Given the description of an element on the screen output the (x, y) to click on. 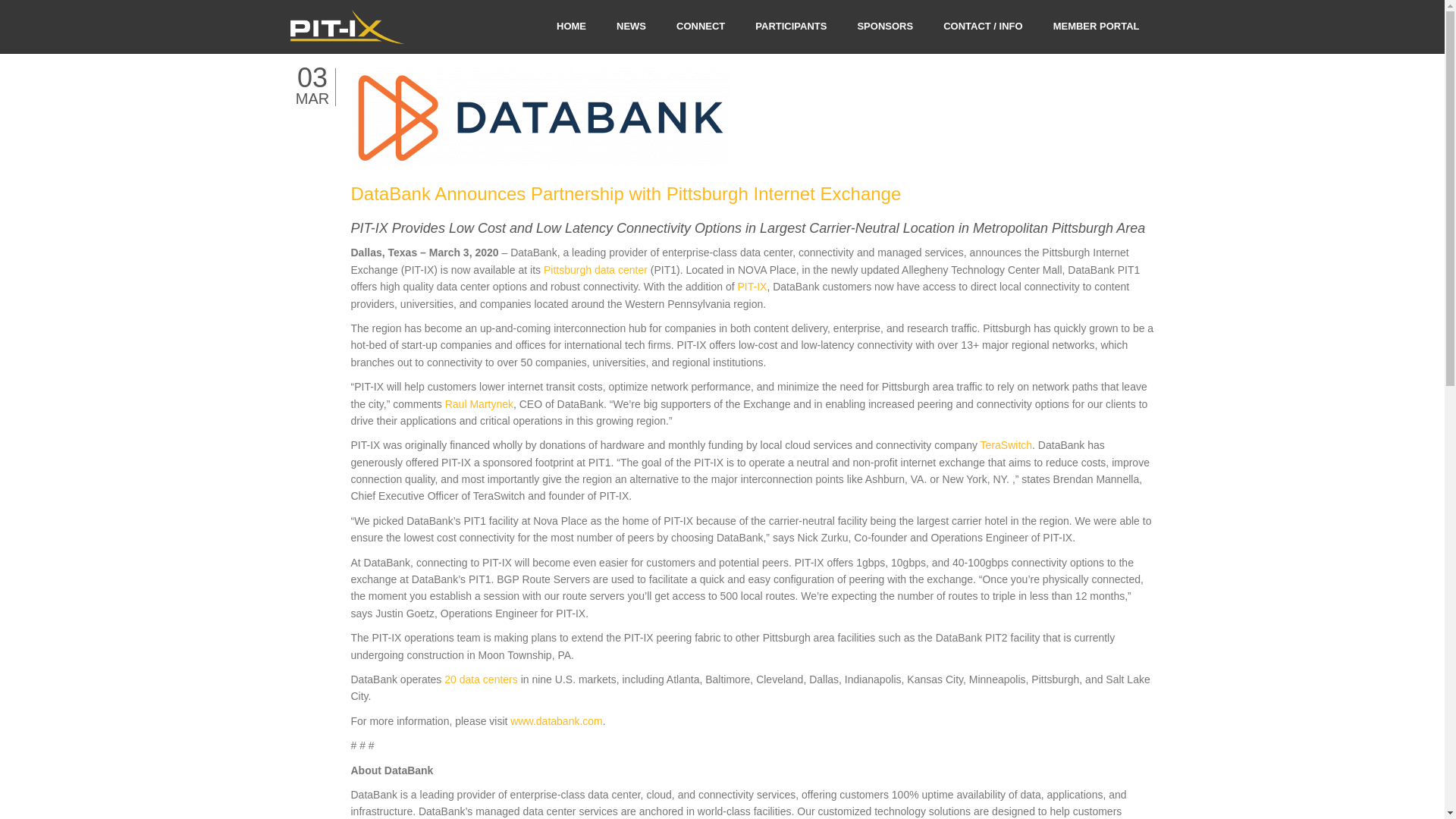
TeraSwitch (1005, 444)
MEMBER PORTAL (1096, 26)
NEWS (631, 26)
PARTICIPANTS (790, 26)
CONNECT (700, 26)
HOME (571, 26)
www.databank.com (556, 720)
20 data centers (481, 679)
PIT-IX (752, 286)
